Given the description of an element on the screen output the (x, y) to click on. 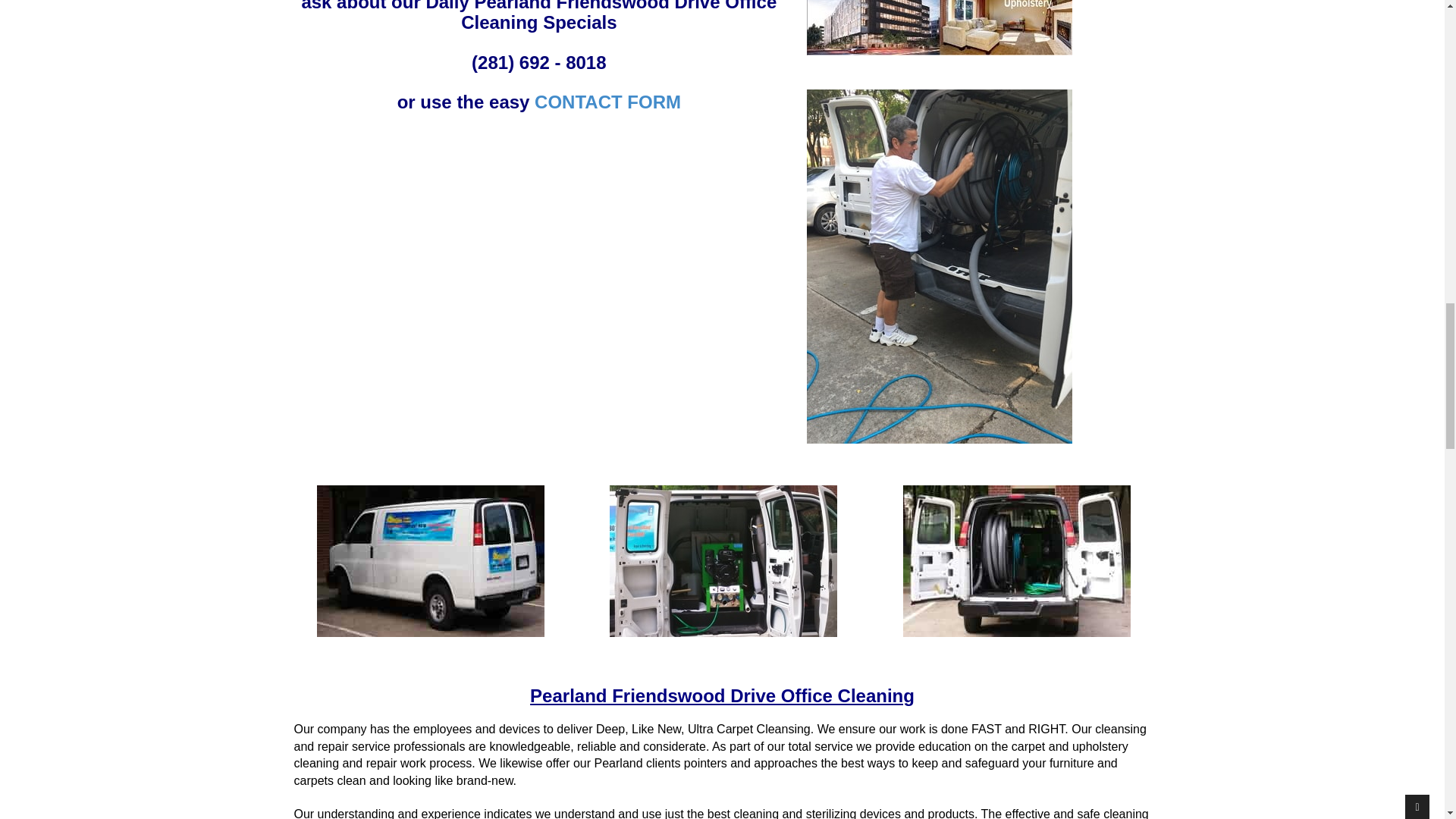
CONTACT FORM (607, 101)
